Given the description of an element on the screen output the (x, y) to click on. 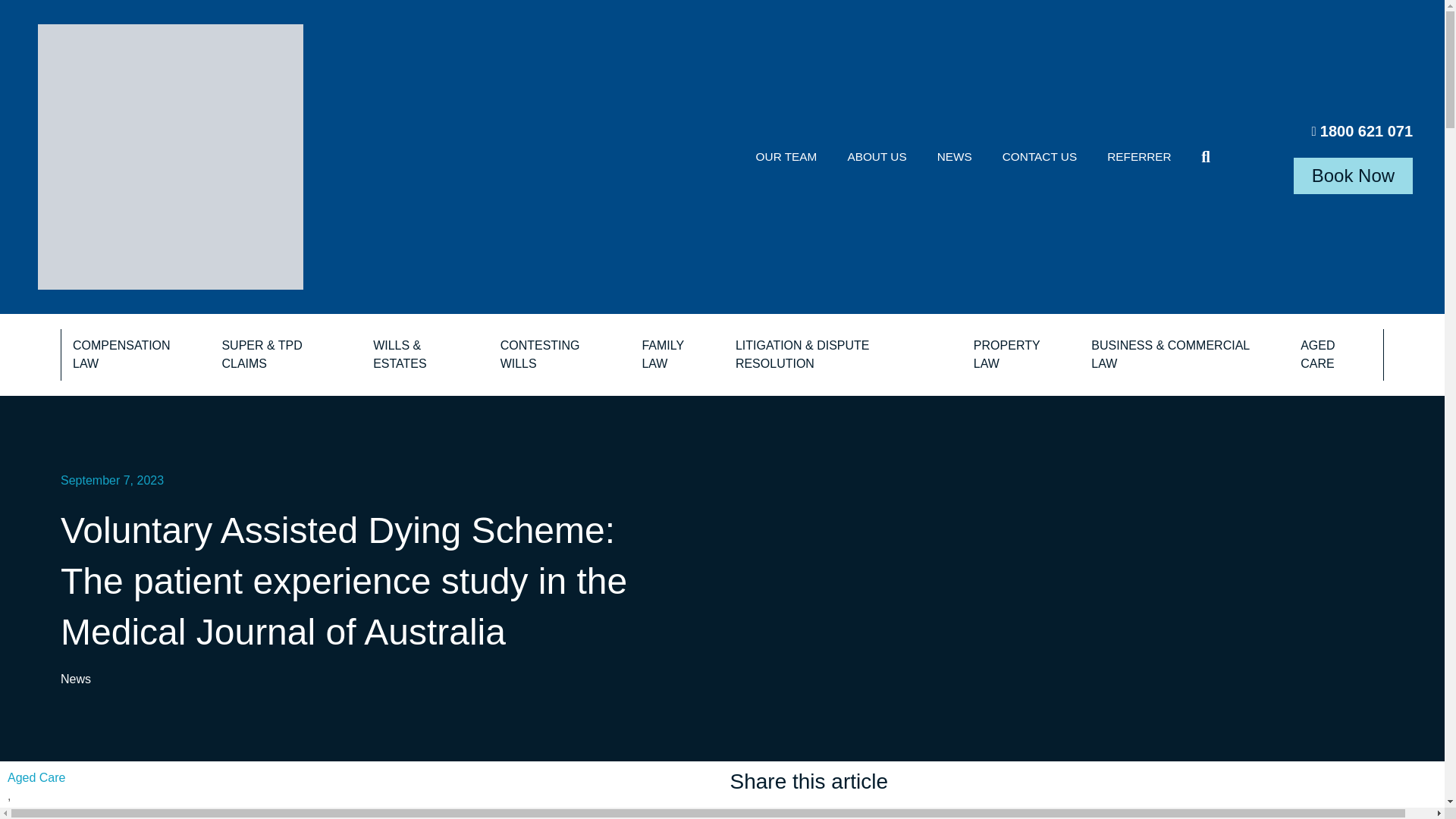
CONTACT US (1039, 156)
REFERRER (1139, 156)
OUR TEAM (786, 156)
ABOUT US (876, 156)
Aged Care (1335, 354)
NEWS (954, 156)
Book Now (1353, 176)
Family Law (676, 354)
Contesting Wills (559, 354)
Property Law (1021, 354)
Compensation Law (135, 354)
1800 621 071 (1324, 130)
